Given the description of an element on the screen output the (x, y) to click on. 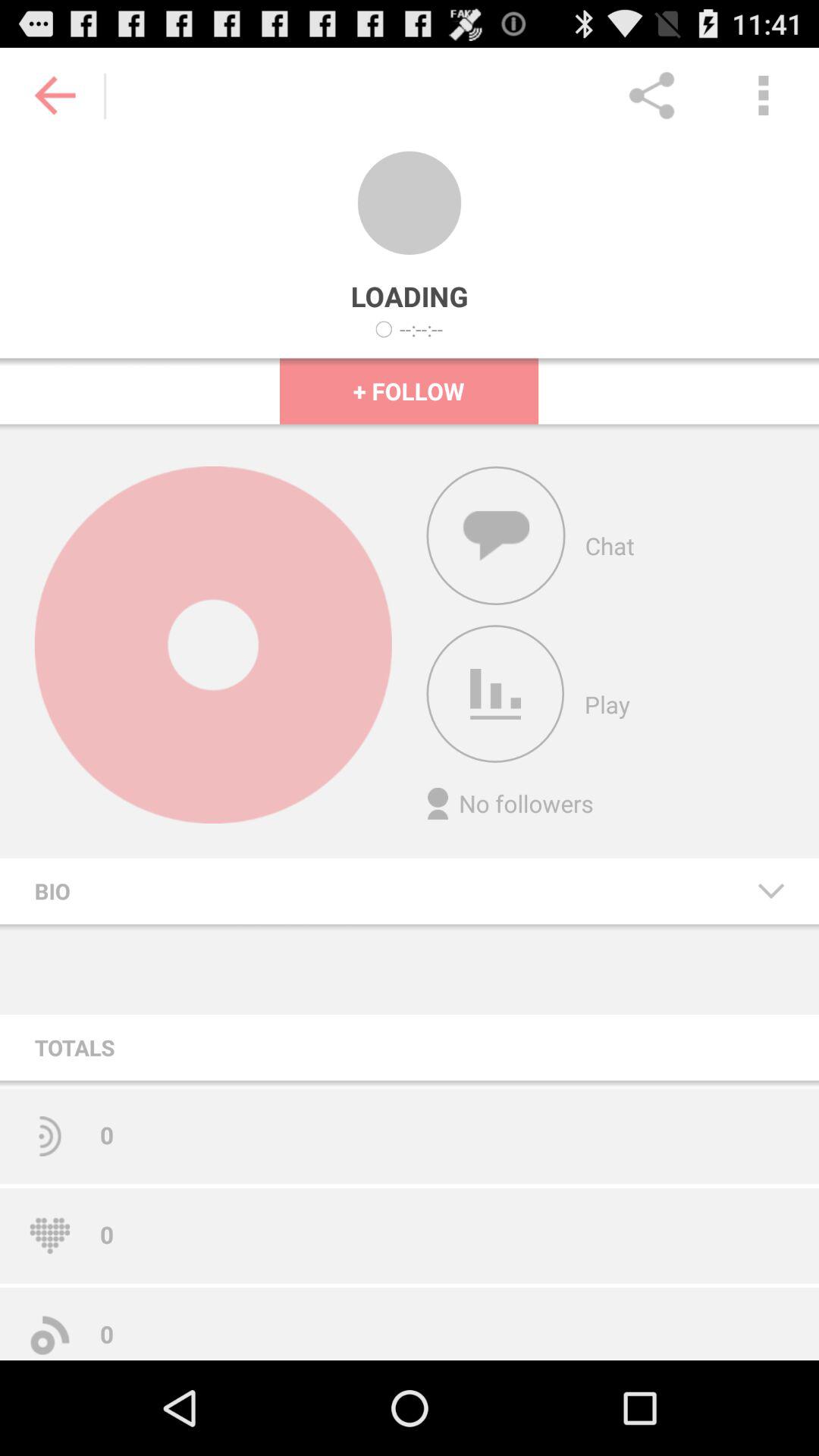
select the icon next to chat item (495, 535)
